Given the description of an element on the screen output the (x, y) to click on. 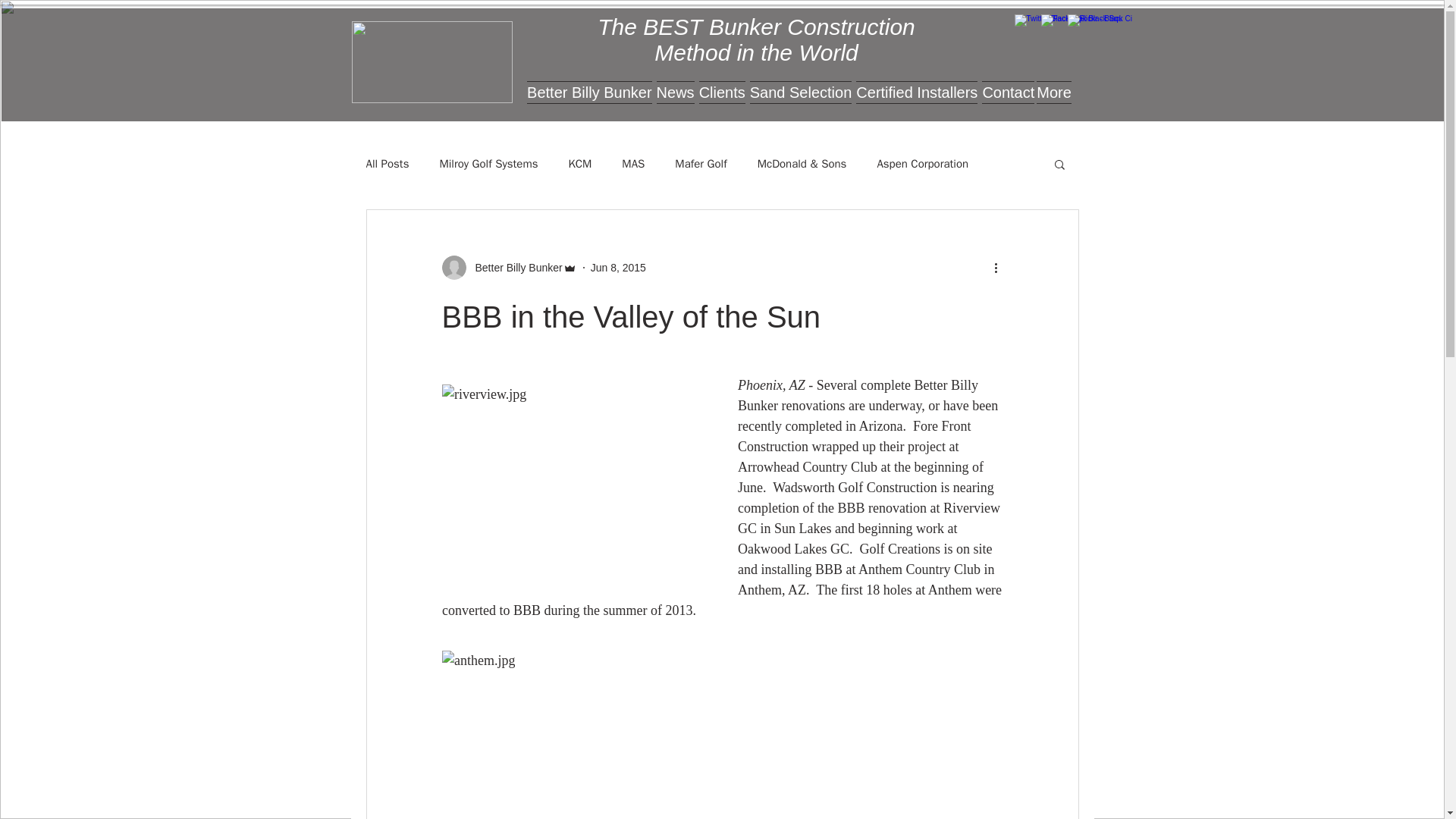
Aspen Corporation (922, 163)
MAS (633, 163)
KCM (579, 163)
Better Billy Bunker (513, 267)
Contact (1006, 98)
Milroy Golf Systems (488, 163)
News (675, 98)
Certified Installers (916, 98)
bbb logo HR.png (432, 62)
Mafer Golf (700, 163)
All Posts (387, 163)
Jun 8, 2015 (618, 266)
